Given the description of an element on the screen output the (x, y) to click on. 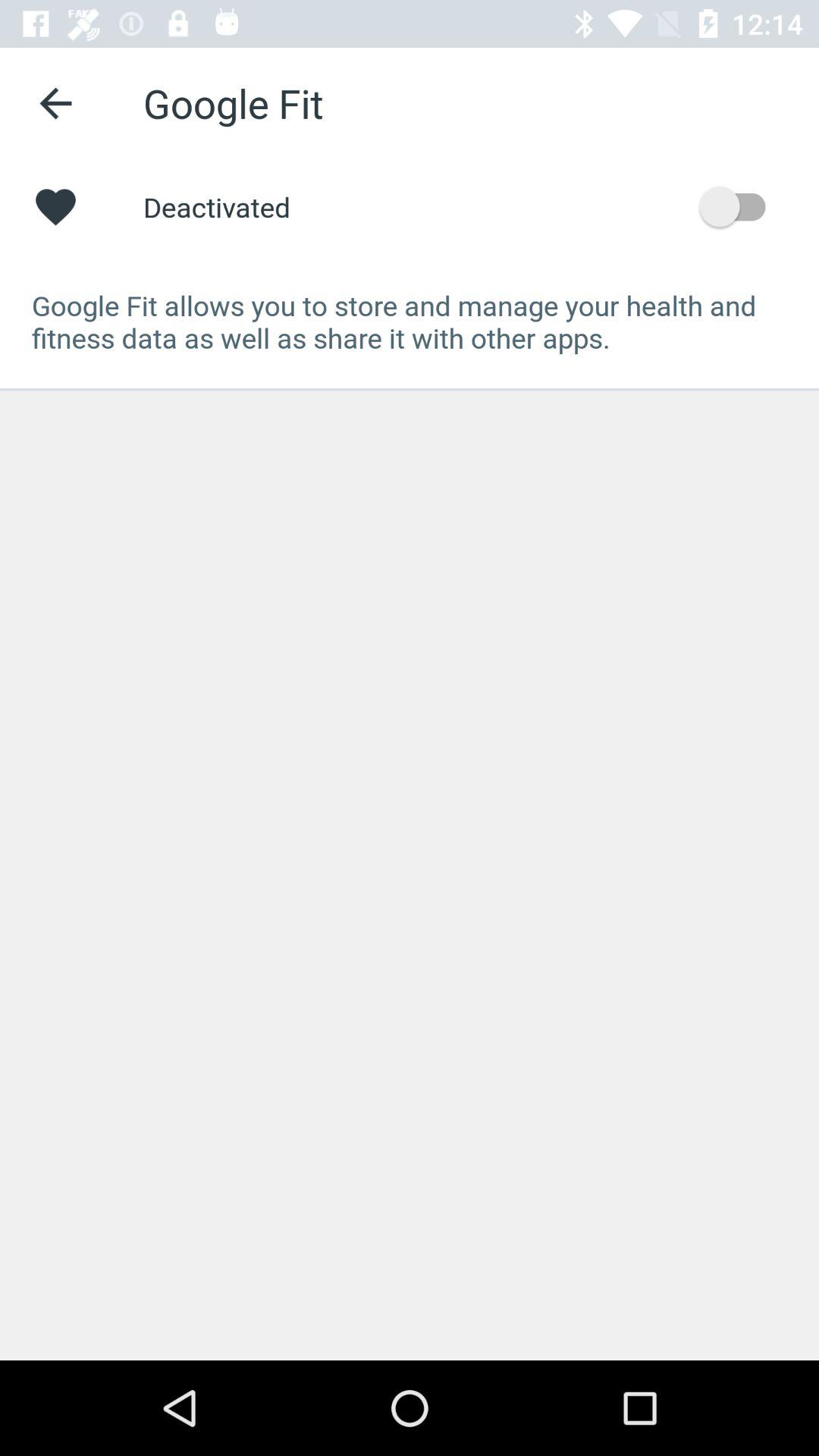
press item above deactivated icon (55, 103)
